Given the description of an element on the screen output the (x, y) to click on. 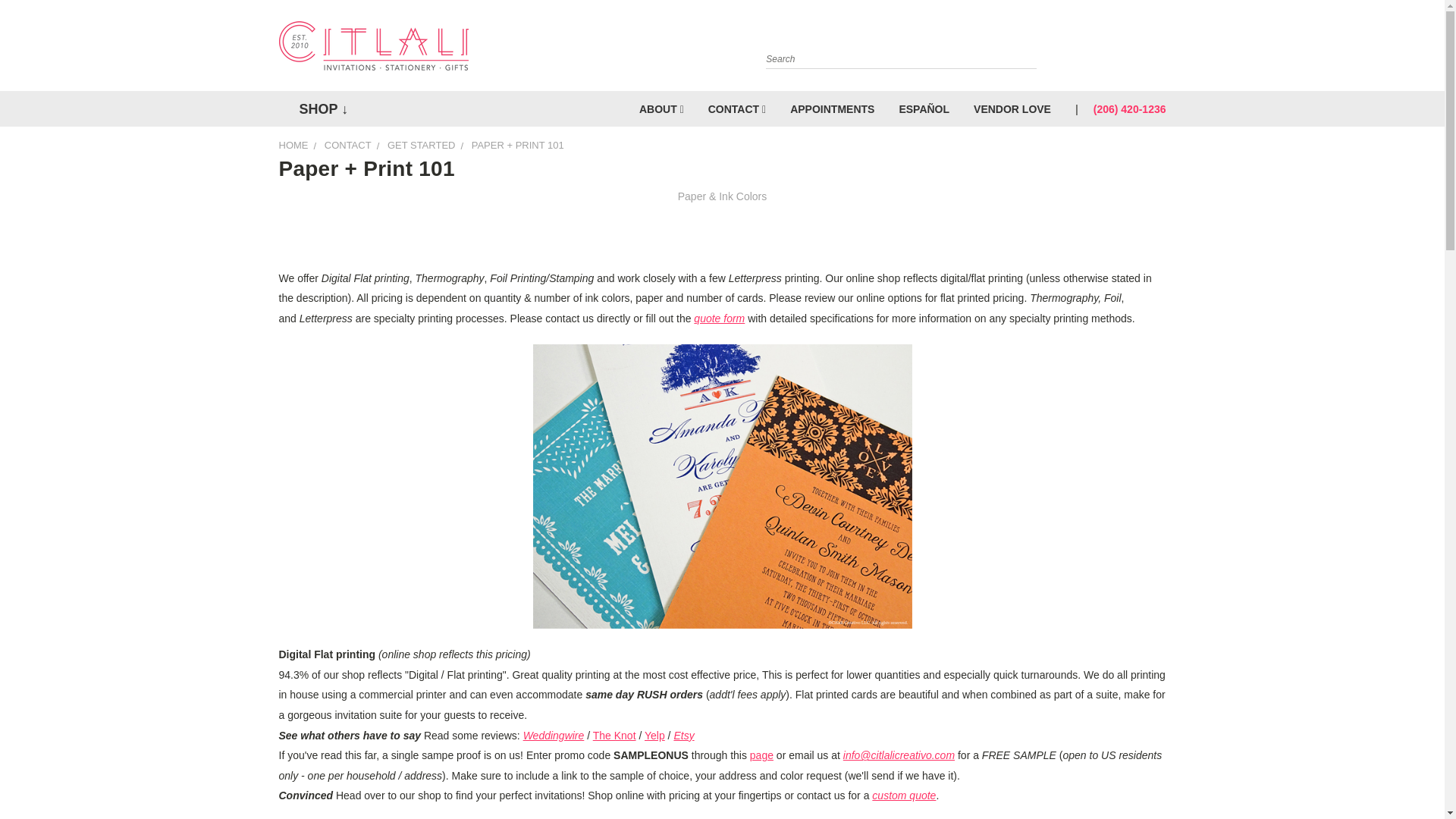
Citlali Creativo (373, 45)
Submit Search (1024, 38)
User Toolbox (1105, 48)
ABOUT (661, 107)
Citlali Creativo Digitally Flat Printed Cards (721, 485)
CONTACT (736, 107)
Gift Certificates (1135, 48)
APPOINTMENTS (831, 107)
